Given the description of an element on the screen output the (x, y) to click on. 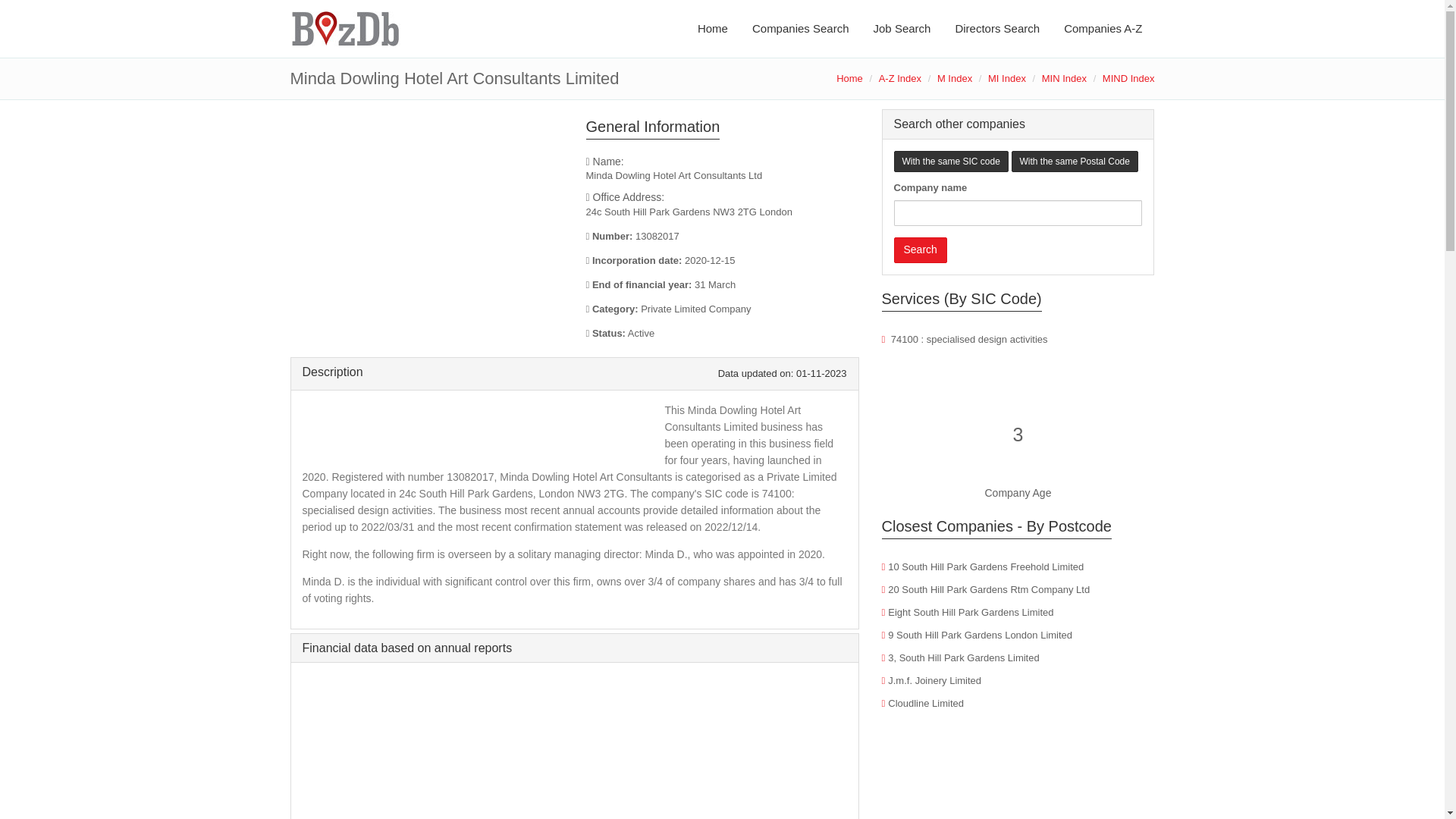
MIN Index (1064, 78)
With the same Postal Code (1074, 160)
Home (849, 78)
Cloudline Limited (925, 703)
Search (919, 249)
With the same SIC code (950, 160)
3, South Hill Park Gardens Limited (963, 657)
A-Z Index (900, 78)
MIND Index (1128, 78)
The company is currently active (722, 333)
M Index (954, 78)
10 South Hill Park Gardens Freehold Limited (985, 566)
the day the company was formed (722, 260)
MIN Index (1064, 78)
